Given the description of an element on the screen output the (x, y) to click on. 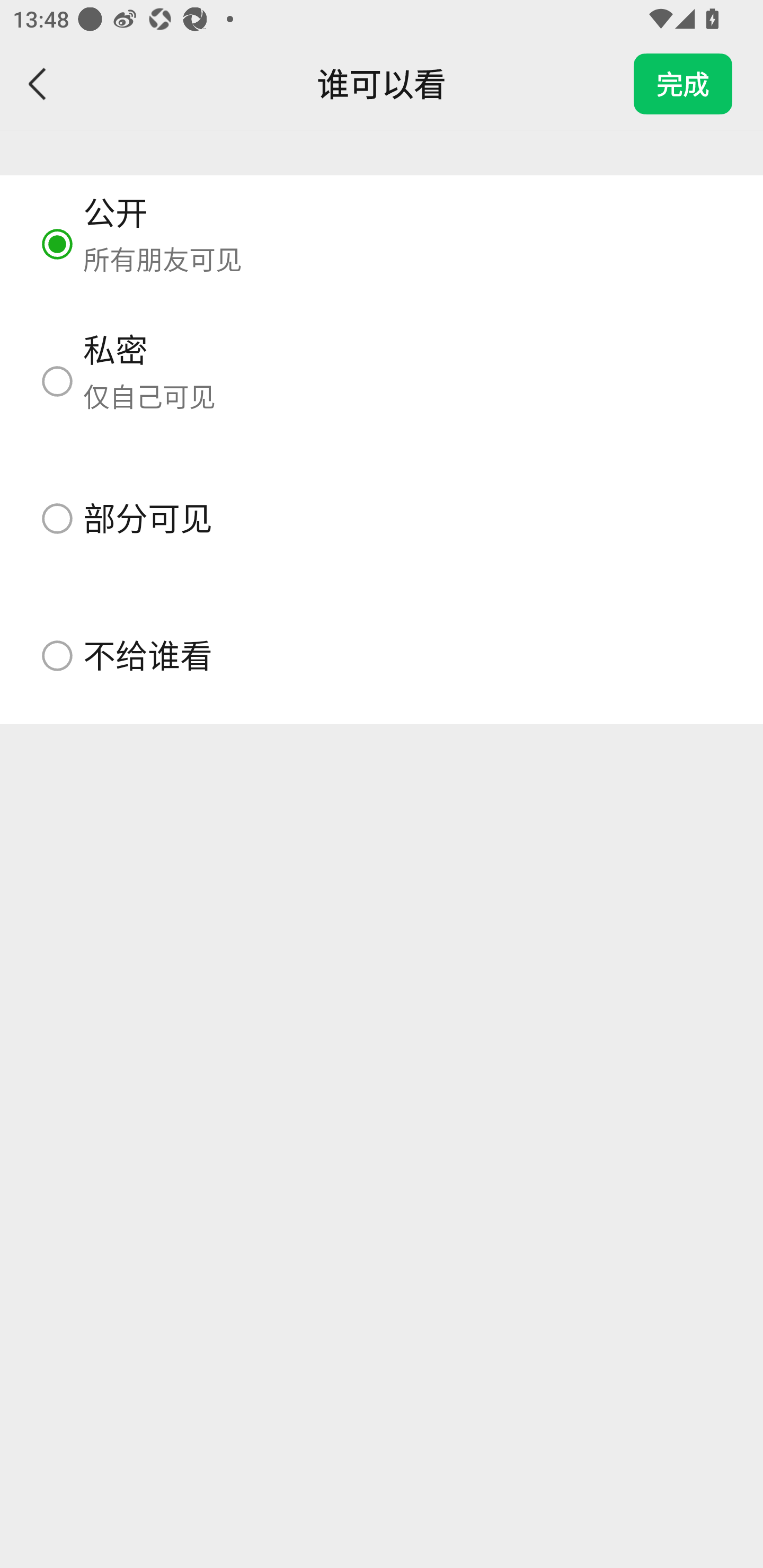
返回 (38, 83)
完成 (683, 83)
已选中 公开 所有朋友可见 (381, 243)
私密 仅自己可见 (381, 381)
部分可见 (381, 518)
不给谁看 (381, 655)
